Given the description of an element on the screen output the (x, y) to click on. 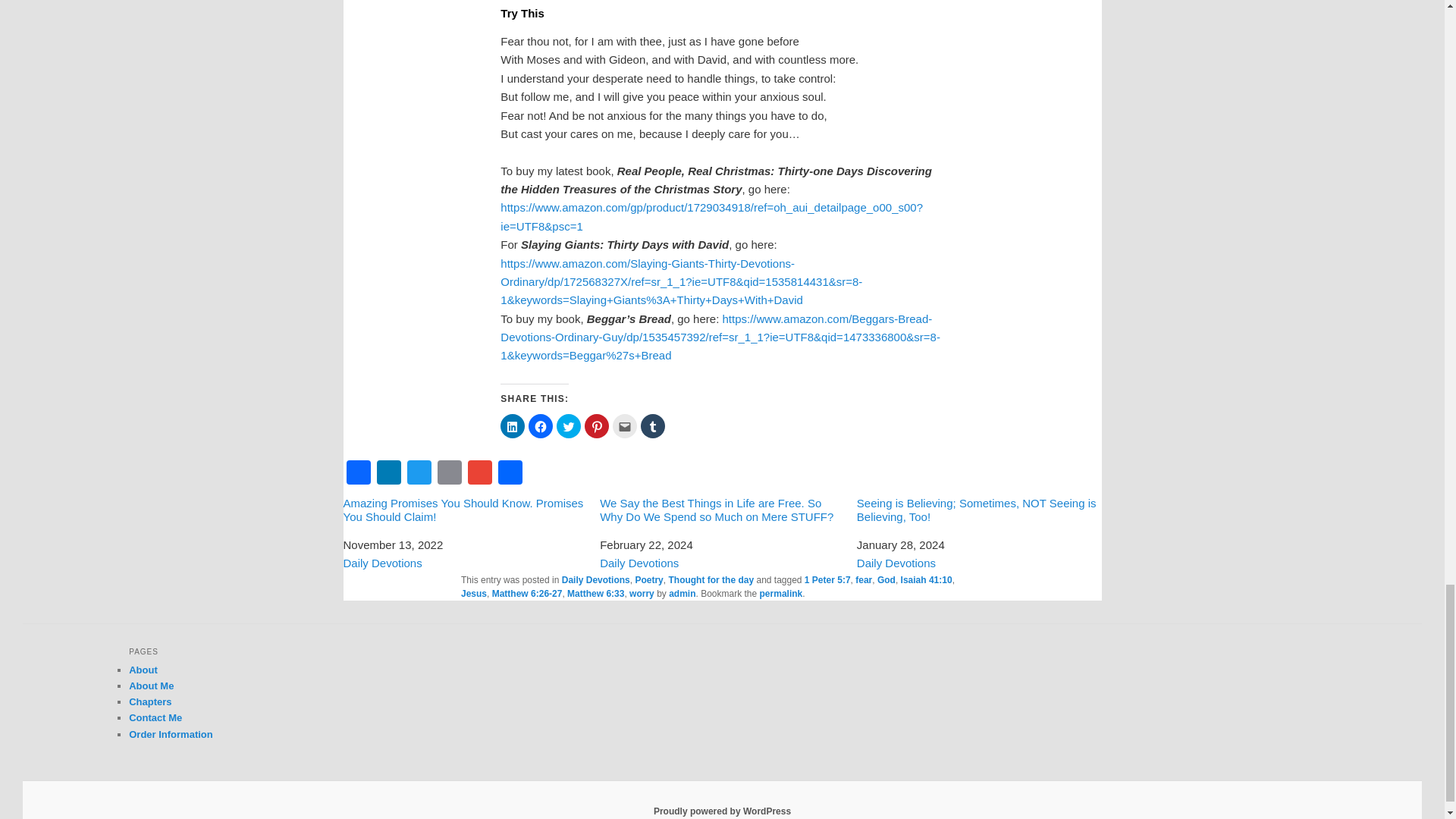
Facebook (357, 472)
Matthew 6:26-27 (527, 593)
Gmail (479, 472)
Email (448, 472)
Click to share on Facebook (540, 426)
Daily Devotions (896, 562)
Daily Devotions (596, 579)
Thought for the day (711, 579)
Amazing Promises You Should Know. Promises You Should Claim! (465, 510)
Semantic Personal Publishing Platform (721, 810)
Click to share on Pinterest (596, 426)
Poetry (648, 579)
Jesus (473, 593)
Click to share on Email (624, 426)
